Given the description of an element on the screen output the (x, y) to click on. 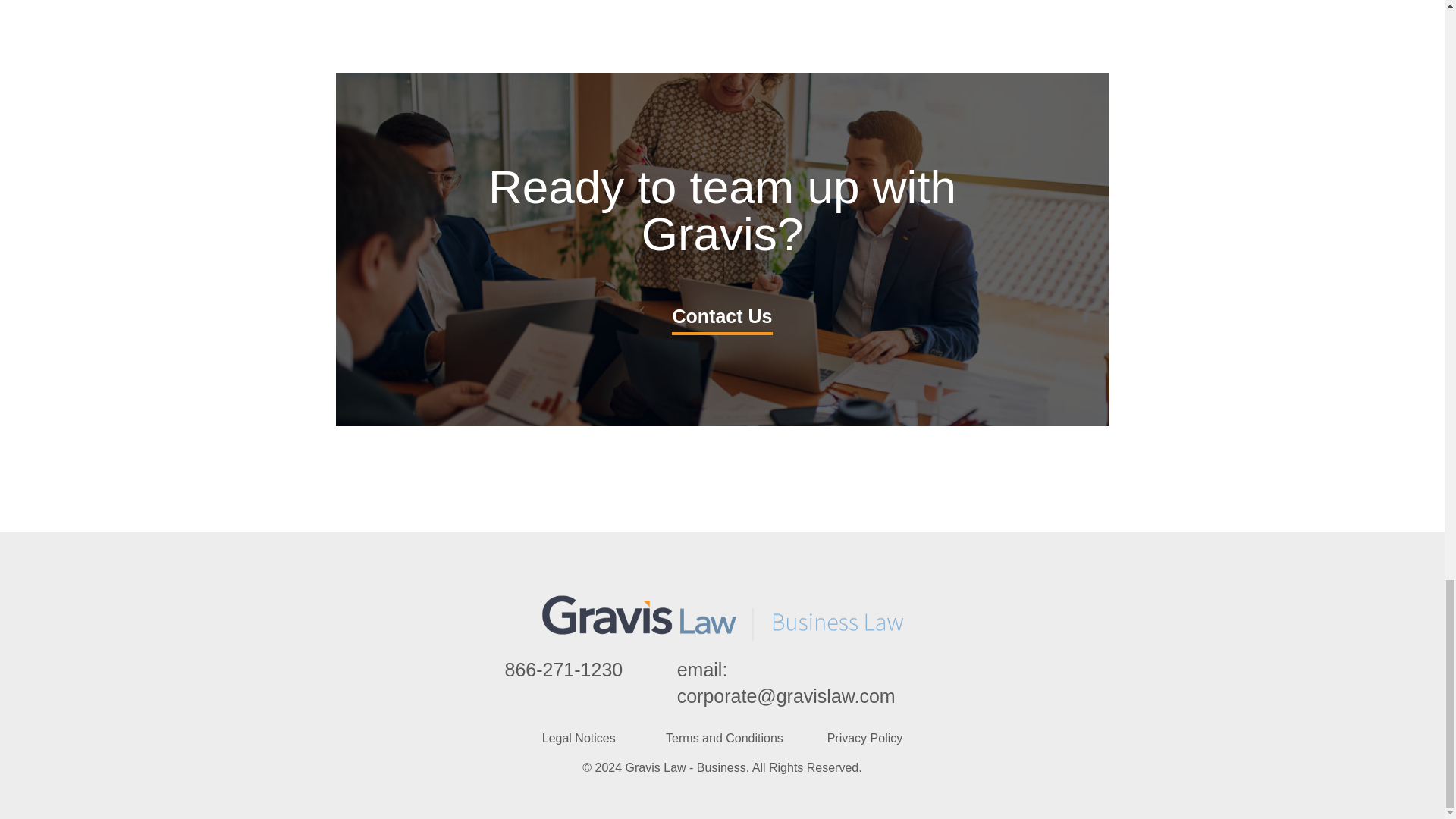
Legal Notices (578, 738)
866-271-1230 (564, 669)
Contact Us (722, 317)
Privacy Policy (864, 738)
Terms and Conditions (724, 738)
